Given the description of an element on the screen output the (x, y) to click on. 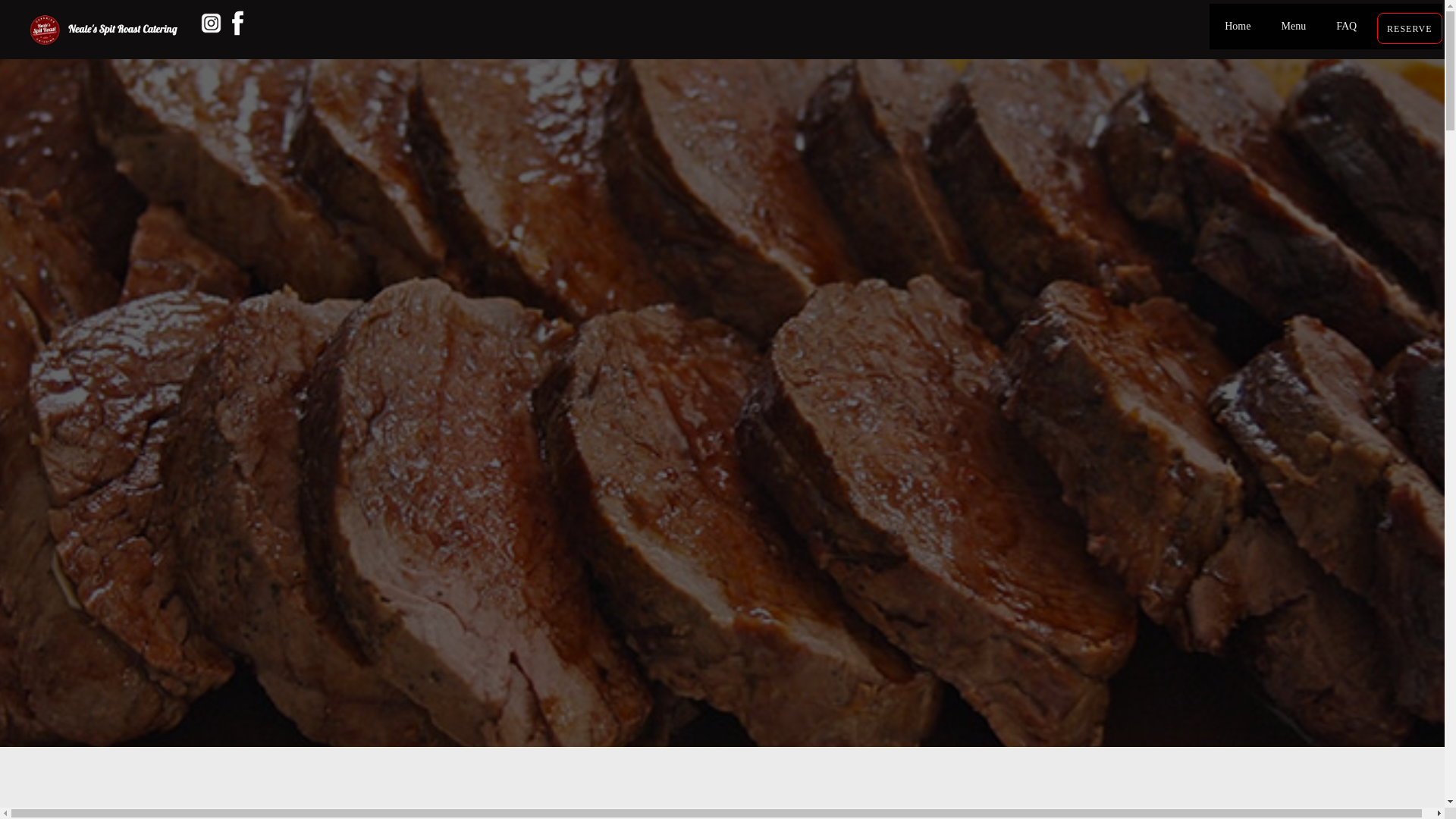
FAQ Element type: text (1346, 26)
RESERVE Element type: text (1409, 27)
Home Element type: text (1237, 26)
Menu Element type: text (1293, 26)
